Given the description of an element on the screen output the (x, y) to click on. 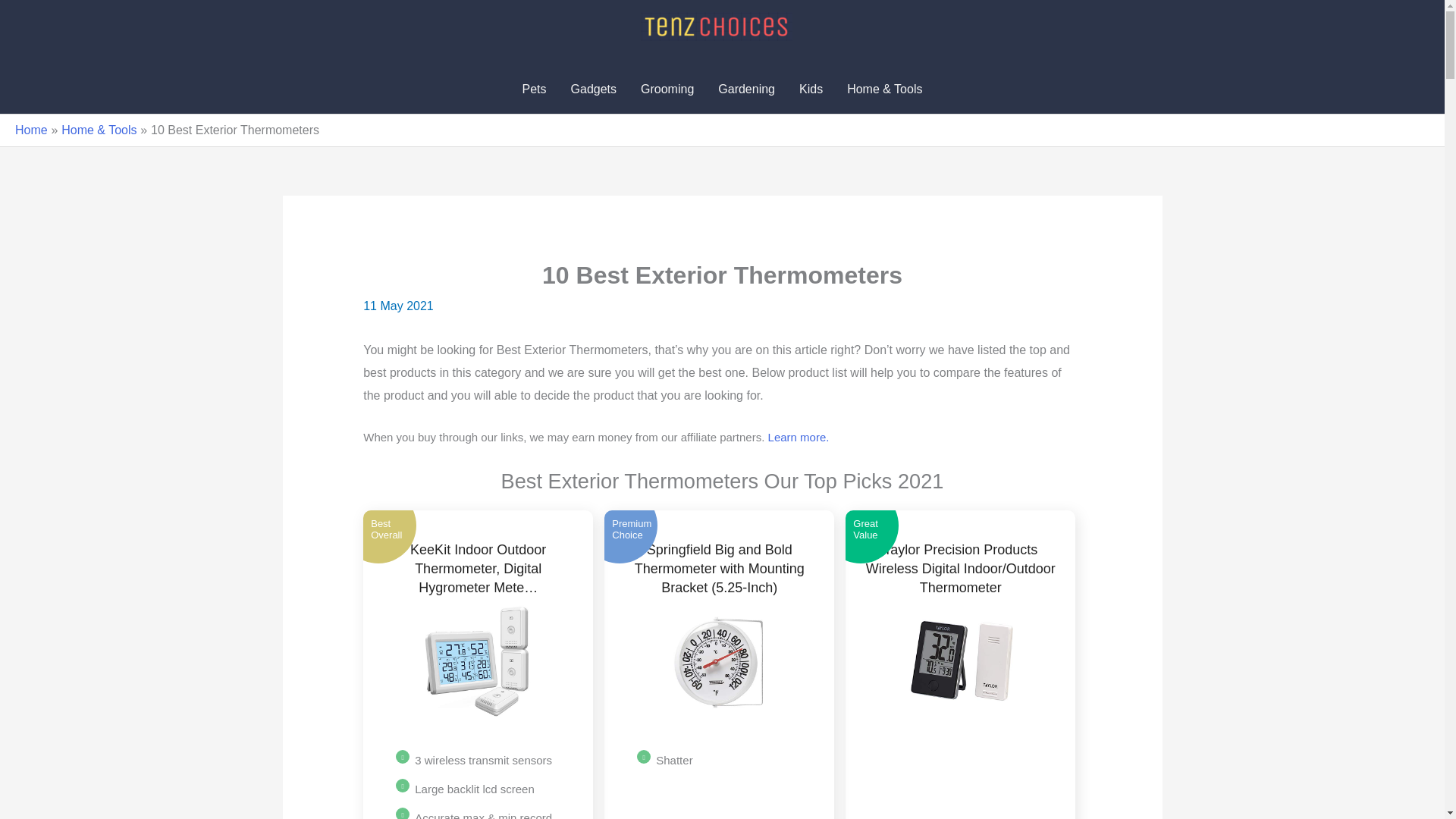
Home (31, 129)
Gardening (746, 89)
Grooming (667, 89)
Kids (810, 89)
Learn more. (798, 436)
Gadgets (593, 89)
Pets (535, 89)
